Given the description of an element on the screen output the (x, y) to click on. 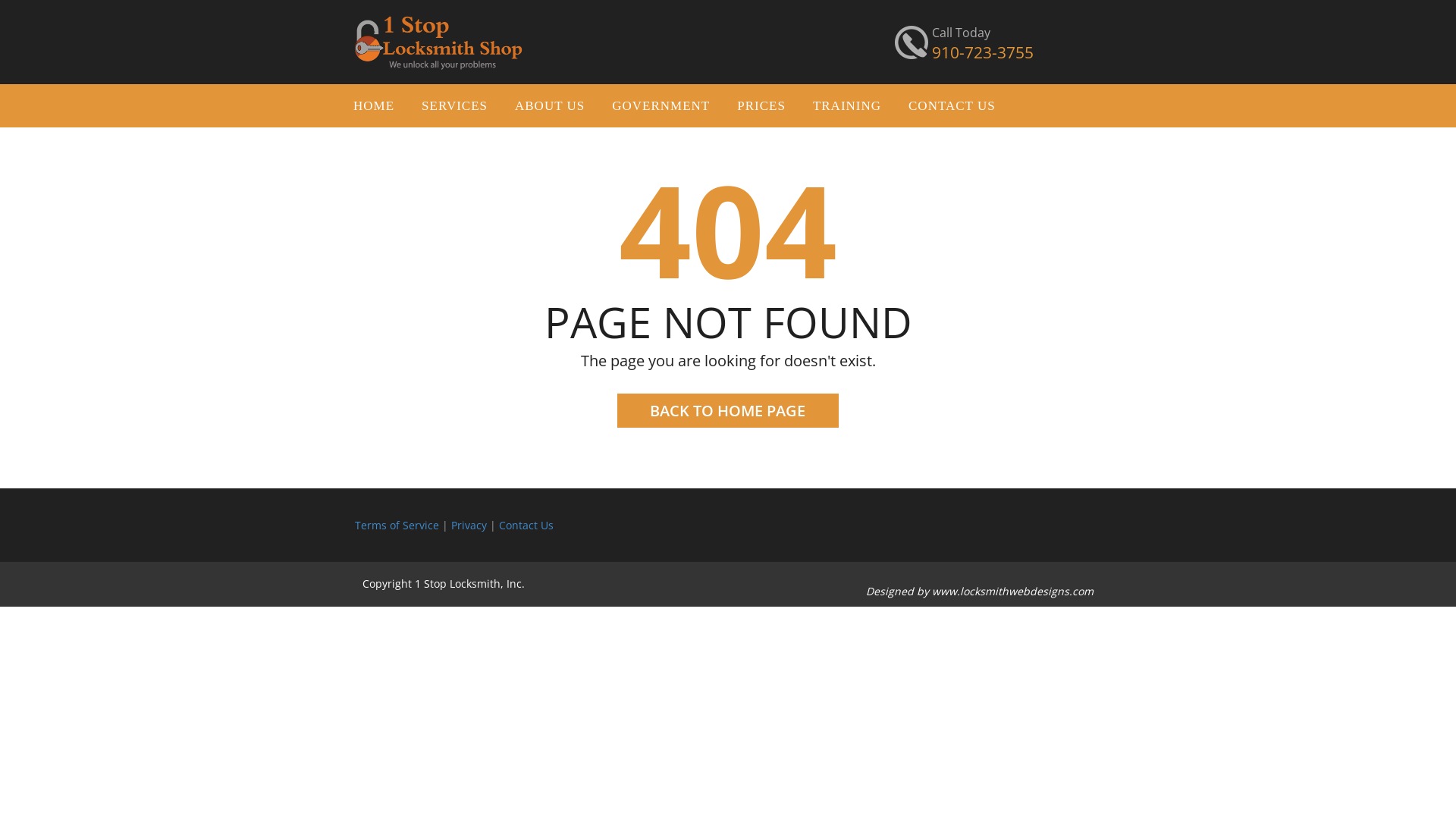
TRAINING Element type: text (846, 105)
www.locksmithwebdesigns.com Element type: text (1012, 590)
SERVICES Element type: text (454, 105)
HOME Element type: text (373, 105)
GOVERNMENT Element type: text (660, 105)
Privacy Element type: text (468, 524)
Contact Us Element type: text (525, 524)
PRICES Element type: text (761, 105)
BACK TO HOME PAGE Element type: text (727, 410)
Terms of Service Element type: text (396, 524)
CONTACT US Element type: text (951, 105)
ABOUT US Element type: text (549, 105)
